Given the description of an element on the screen output the (x, y) to click on. 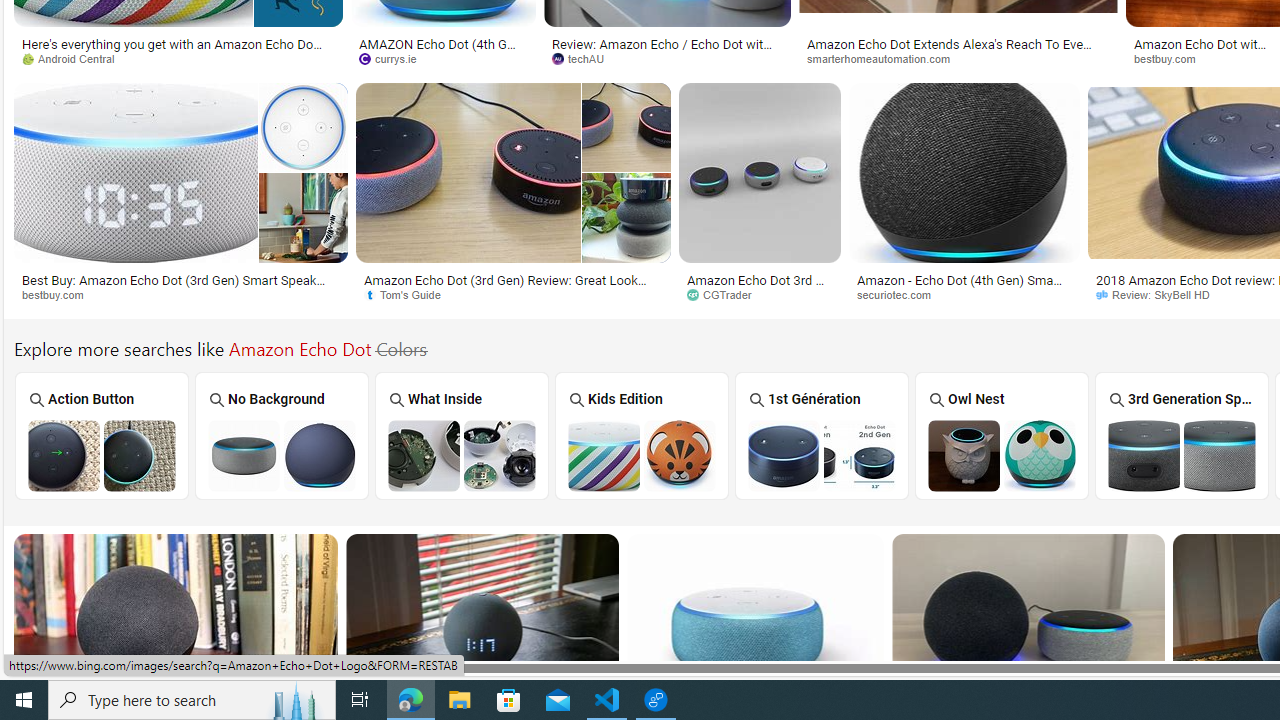
currys.ie (394, 57)
Amazon Echo Dot Kids Edition (641, 455)
Amazon Echo Dot Photo No Background No Background (281, 435)
What Inside (461, 435)
Image result for Amazon Echo Dot Colors (1028, 623)
Owl Nest (1002, 435)
Amazon Echo Dot Kids Edition Kids Edition (641, 435)
3rd Generation Speaker (1181, 435)
